Given the description of an element on the screen output the (x, y) to click on. 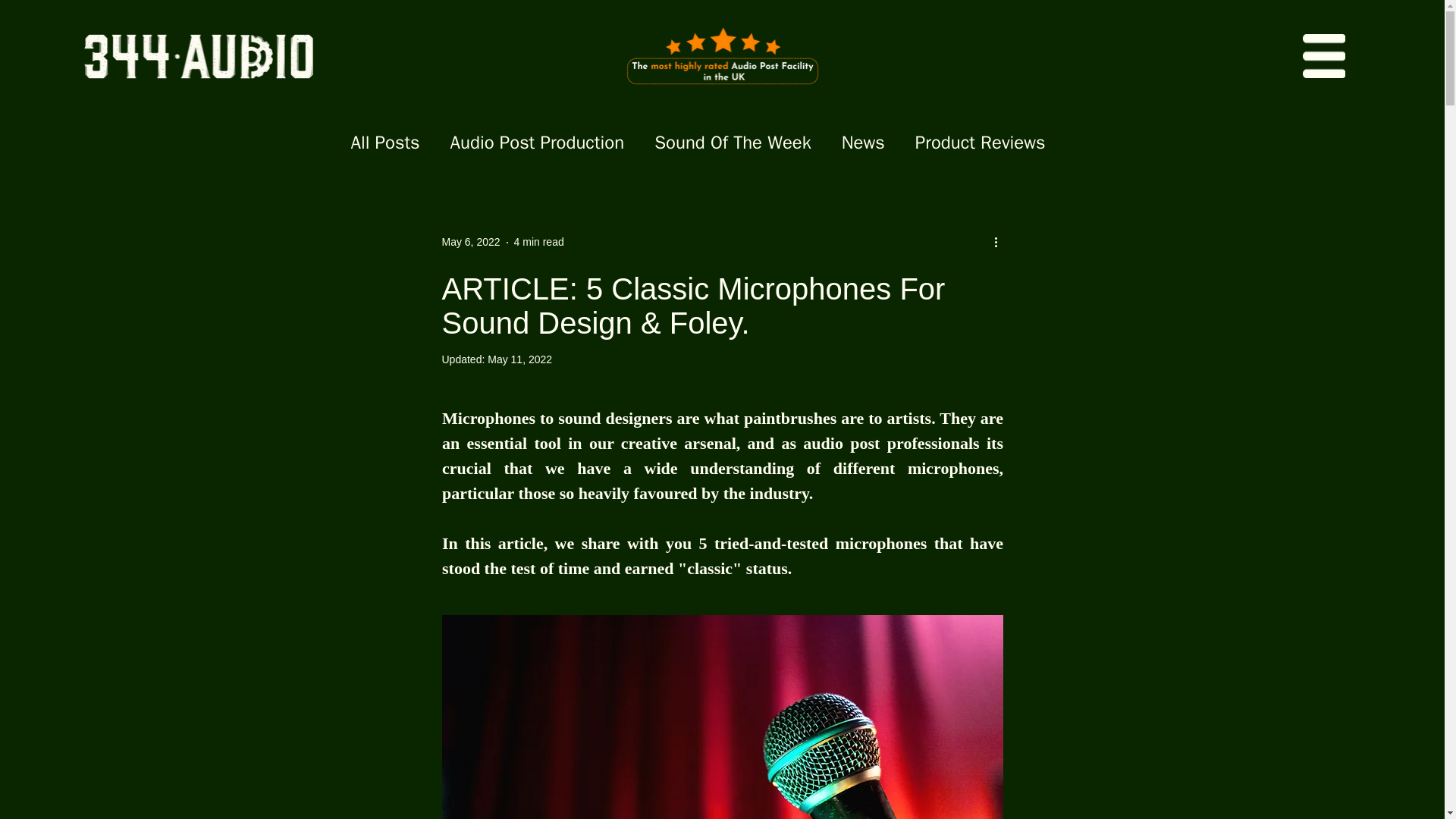
All Posts (384, 142)
Audio Post Production (536, 142)
Product Reviews (980, 142)
News (863, 142)
4 min read (538, 241)
May 11, 2022 (519, 358)
Sound Of The Week (731, 142)
May 6, 2022 (470, 241)
